Given the description of an element on the screen output the (x, y) to click on. 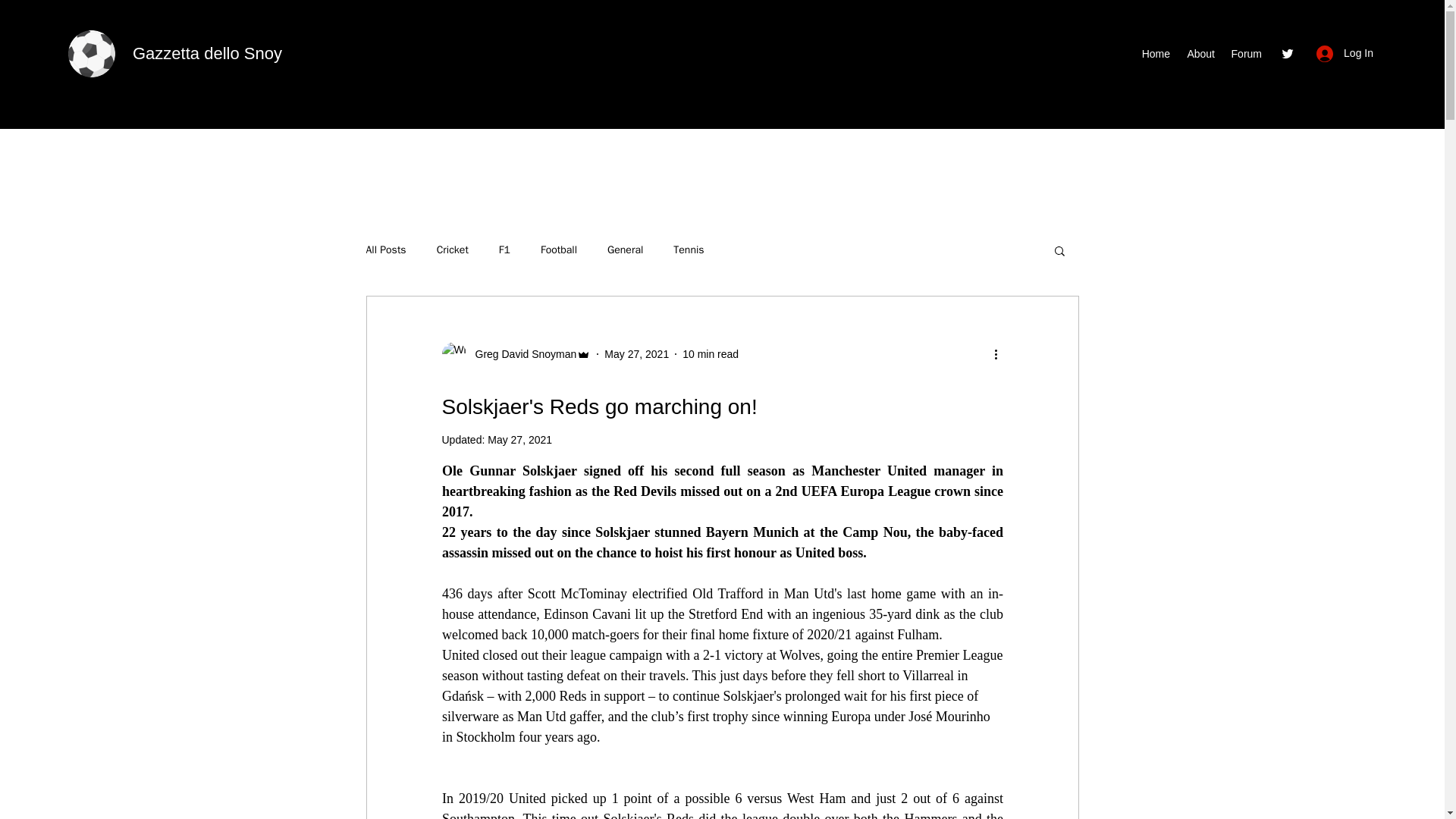
About (1200, 53)
Football (558, 250)
General (625, 250)
All Posts (385, 250)
Gazzetta dello Snoy (207, 53)
Greg David Snoyman (520, 353)
May 27, 2021 (636, 353)
May 27, 2021 (519, 439)
10 min read (710, 353)
Greg David Snoyman (516, 354)
Log In (1345, 53)
Tennis (687, 250)
Forum (1246, 53)
Cricket (452, 250)
Home (1154, 53)
